Given the description of an element on the screen output the (x, y) to click on. 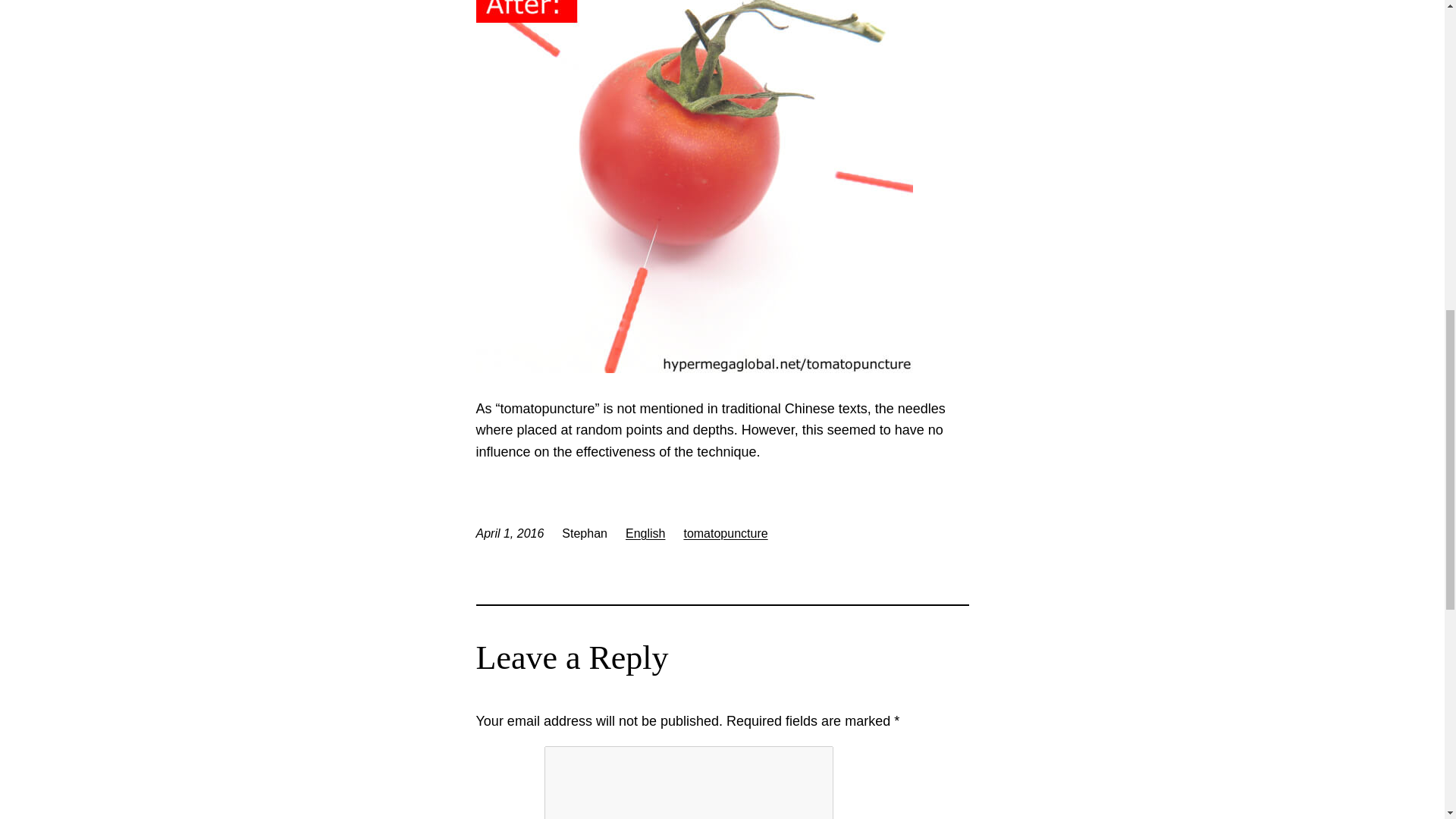
tomatopuncture (724, 533)
English (645, 533)
